Given the description of an element on the screen output the (x, y) to click on. 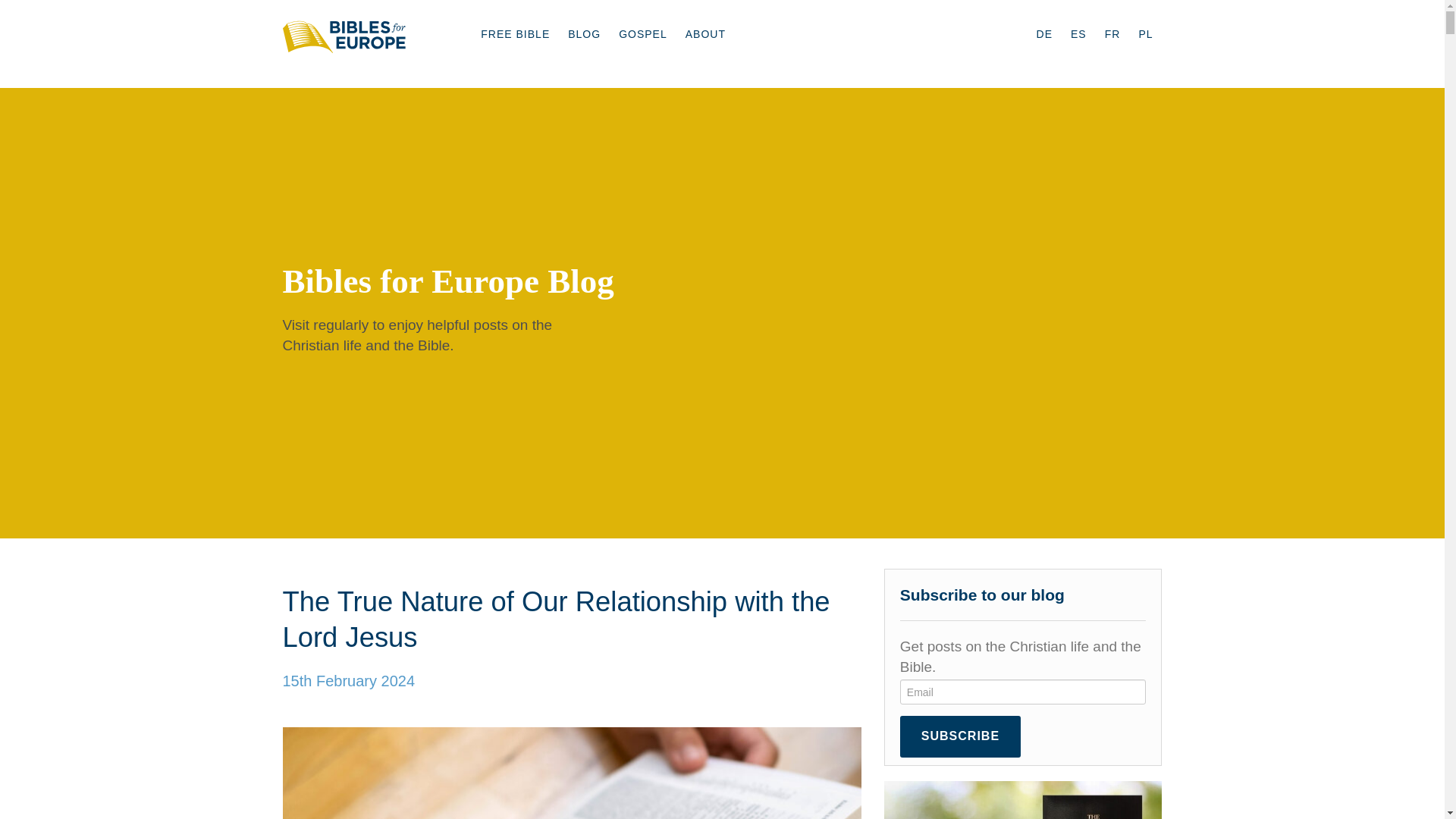
GOSPEL (643, 33)
FREE BIBLE (515, 33)
15th February 2024 (348, 680)
The True Nature of Our Relationship with the Lord Jesus (555, 619)
